Given the description of an element on the screen output the (x, y) to click on. 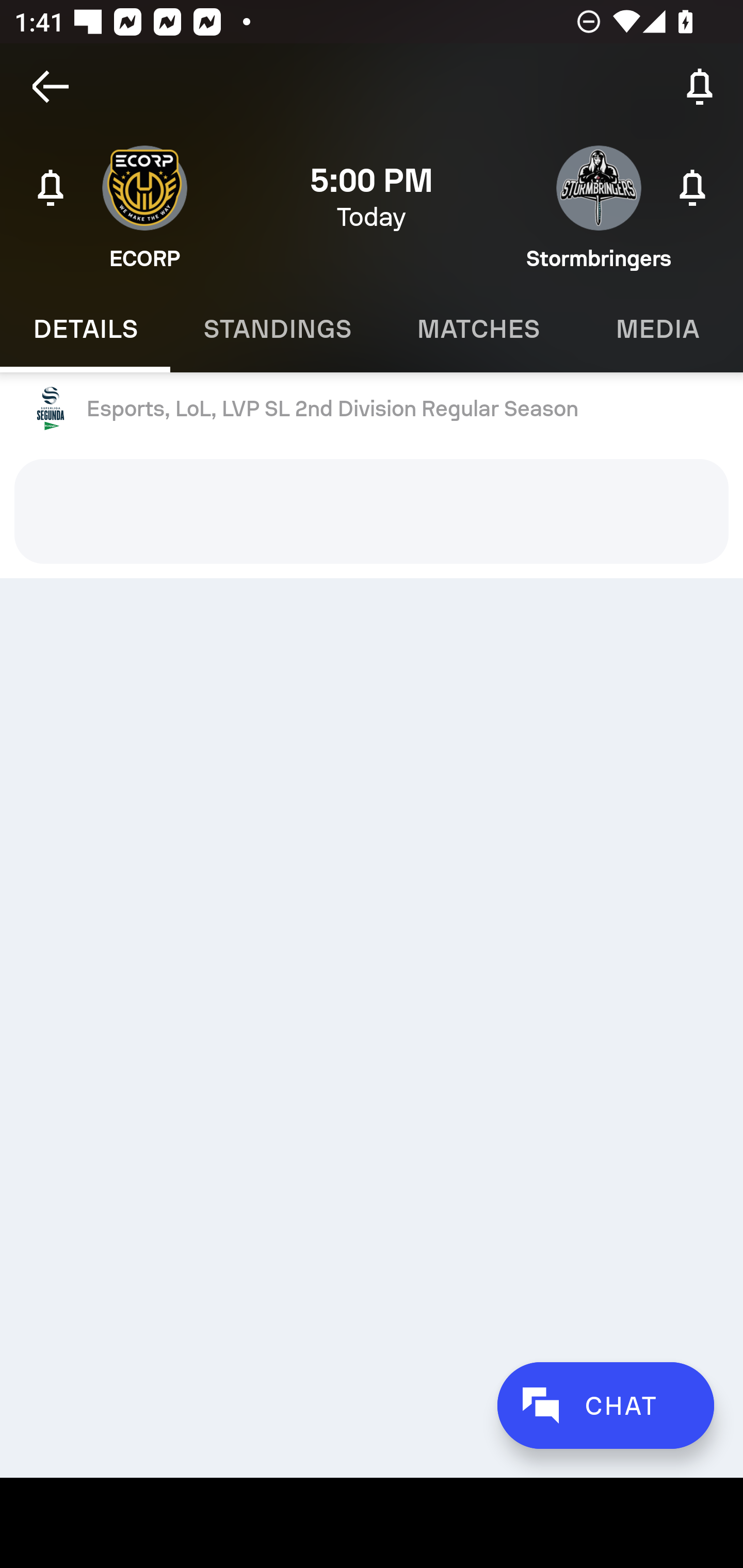
Navigate up (50, 86)
Standings STANDINGS (277, 329)
Matches MATCHES (478, 329)
Media MEDIA (657, 329)
Esports, LoL, LVP SL 2nd Division Regular Season (371, 409)
CHAT (605, 1405)
